Given the description of an element on the screen output the (x, y) to click on. 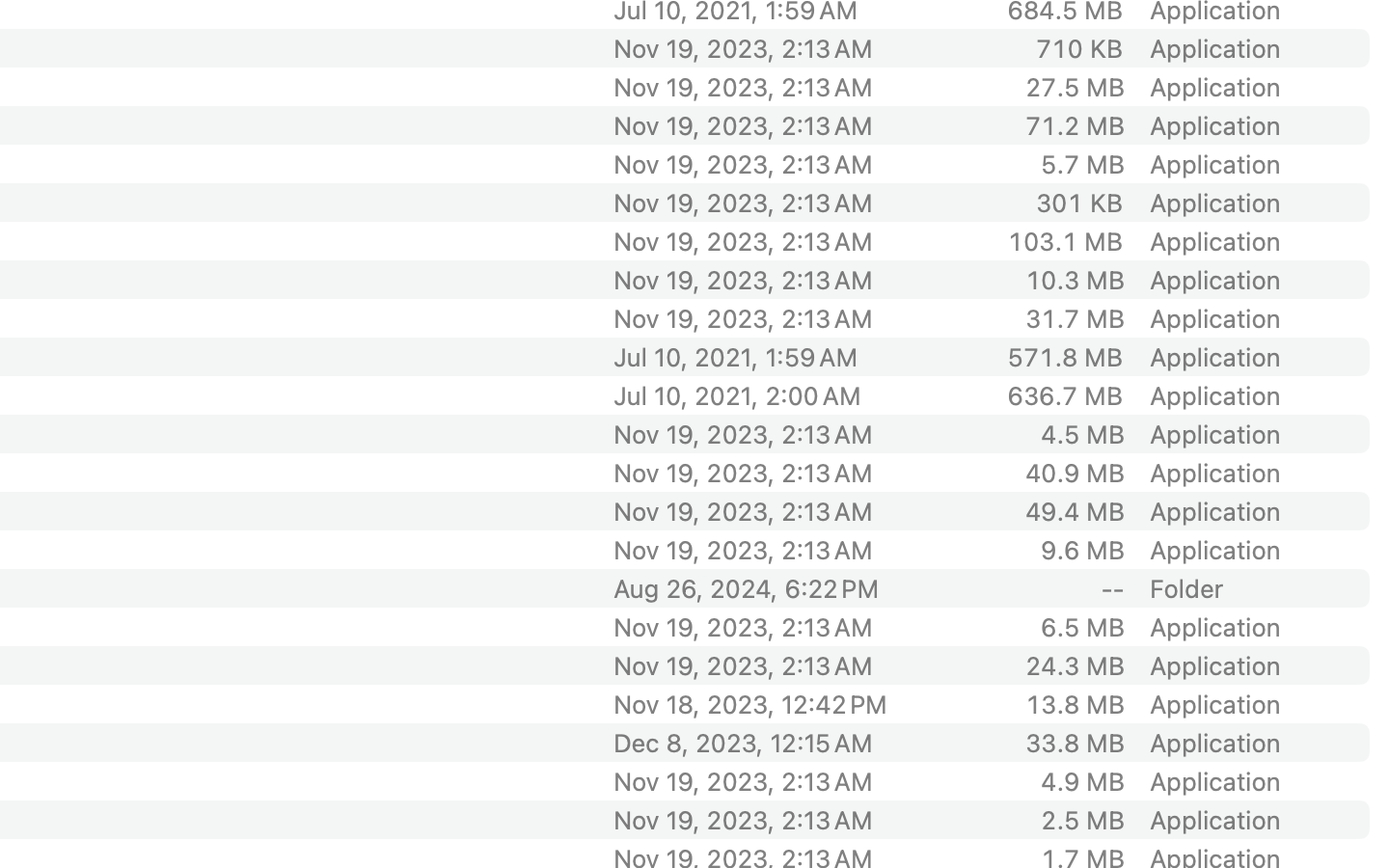
24.3 MB Element type: AXStaticText (1074, 665)
571.8 MB Element type: AXStaticText (1064, 356)
10.3 MB Element type: AXStaticText (1074, 279)
Jul 10, 2021, 1:59 AM Element type: AXStaticText (774, 356)
40.9 MB Element type: AXStaticText (1074, 472)
